Given the description of an element on the screen output the (x, y) to click on. 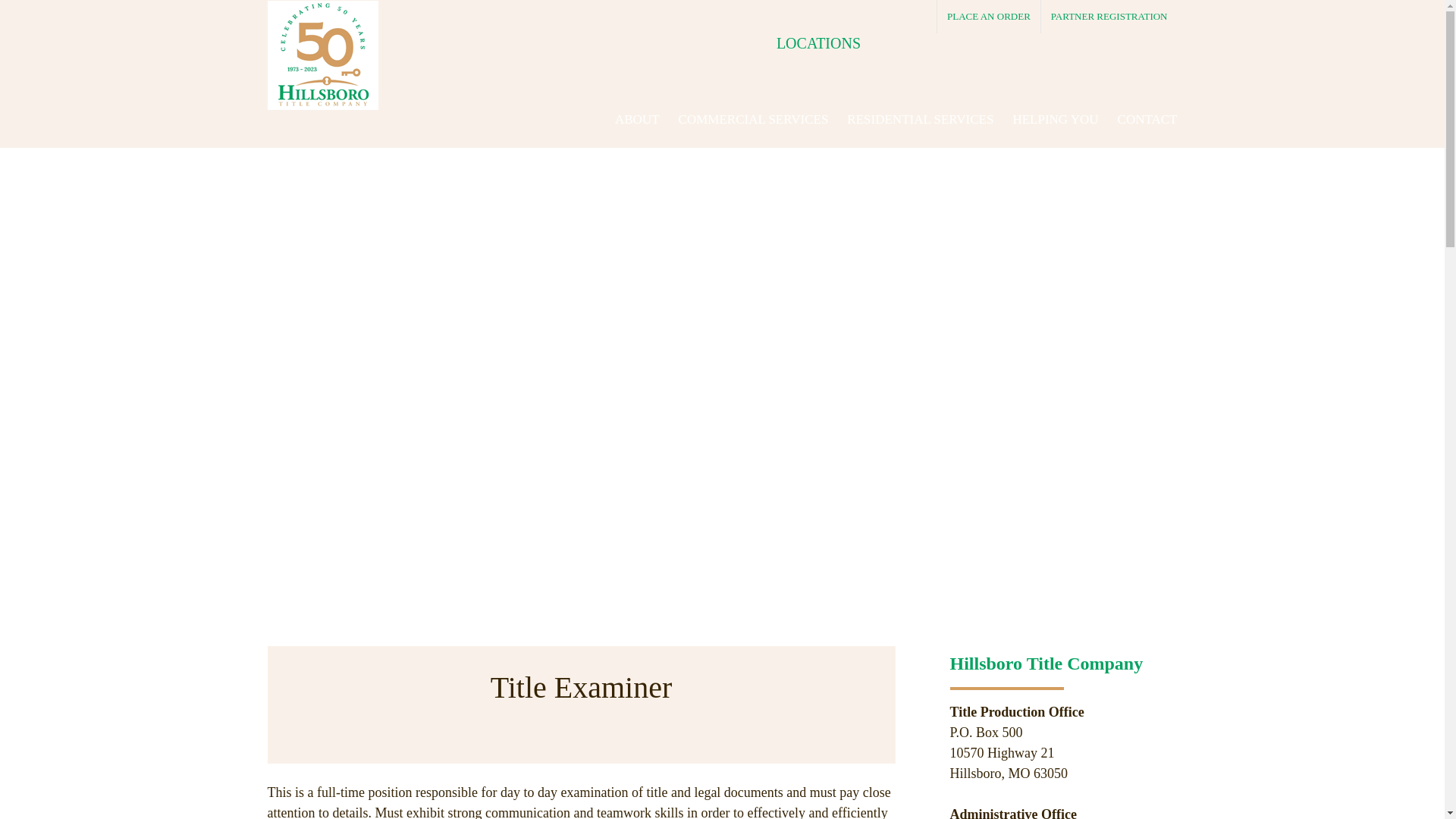
Title Examiner (580, 704)
COMMERCIAL SERVICES (753, 119)
LOCATIONS (839, 42)
HELPING YOU (1054, 119)
ABOUT (636, 119)
RESIDENTIAL SERVICES (919, 119)
PLACE AN ORDER (989, 16)
PARTNER REGISTRATION (1109, 16)
CONTACT (1147, 119)
